Given the description of an element on the screen output the (x, y) to click on. 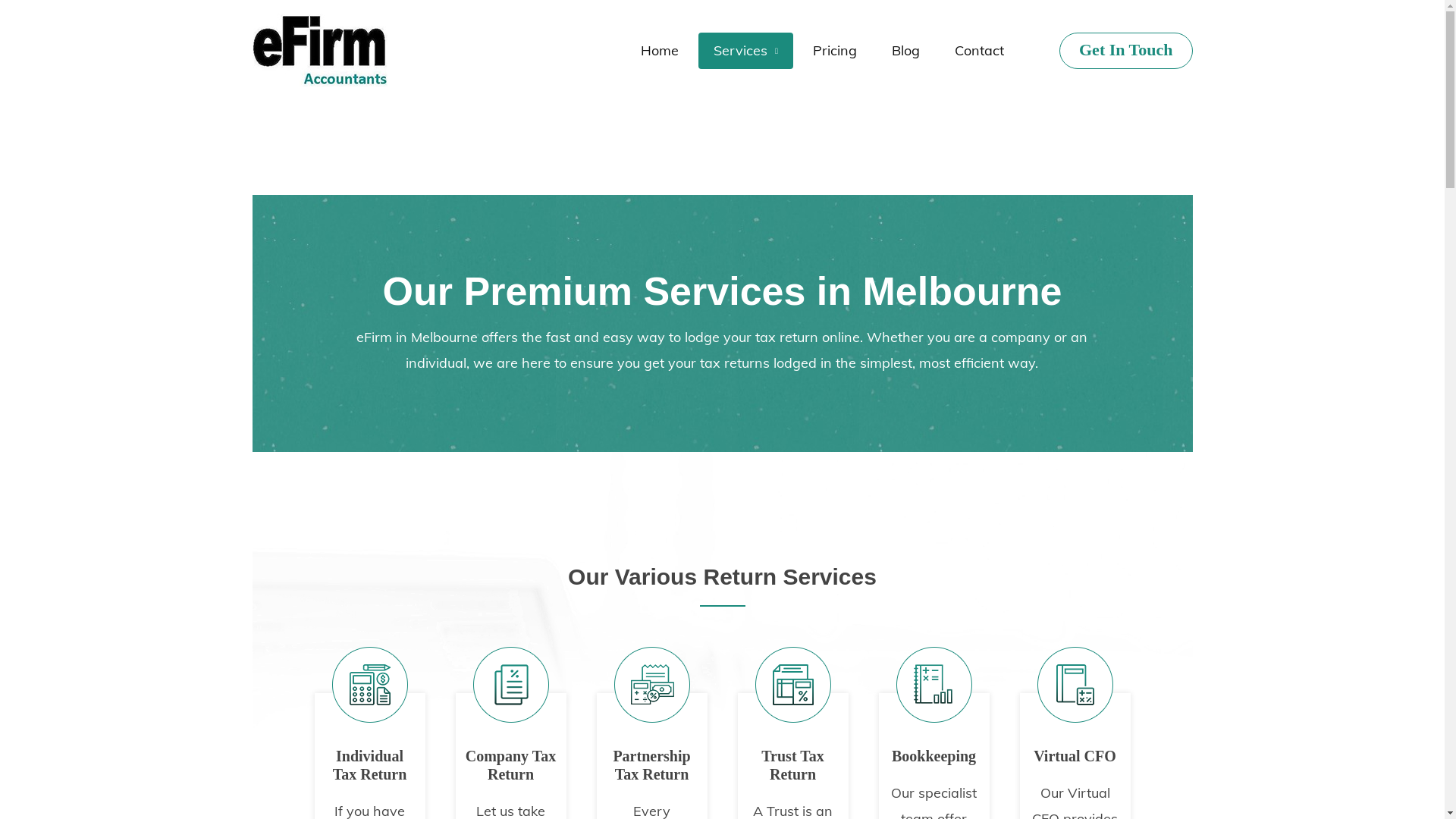
Services Element type: text (745, 49)
Get In Touch Element type: text (1125, 49)
Home Element type: text (659, 49)
Blog Element type: text (905, 49)
Contact Element type: text (979, 49)
Pricing Element type: text (834, 49)
